Given the description of an element on the screen output the (x, y) to click on. 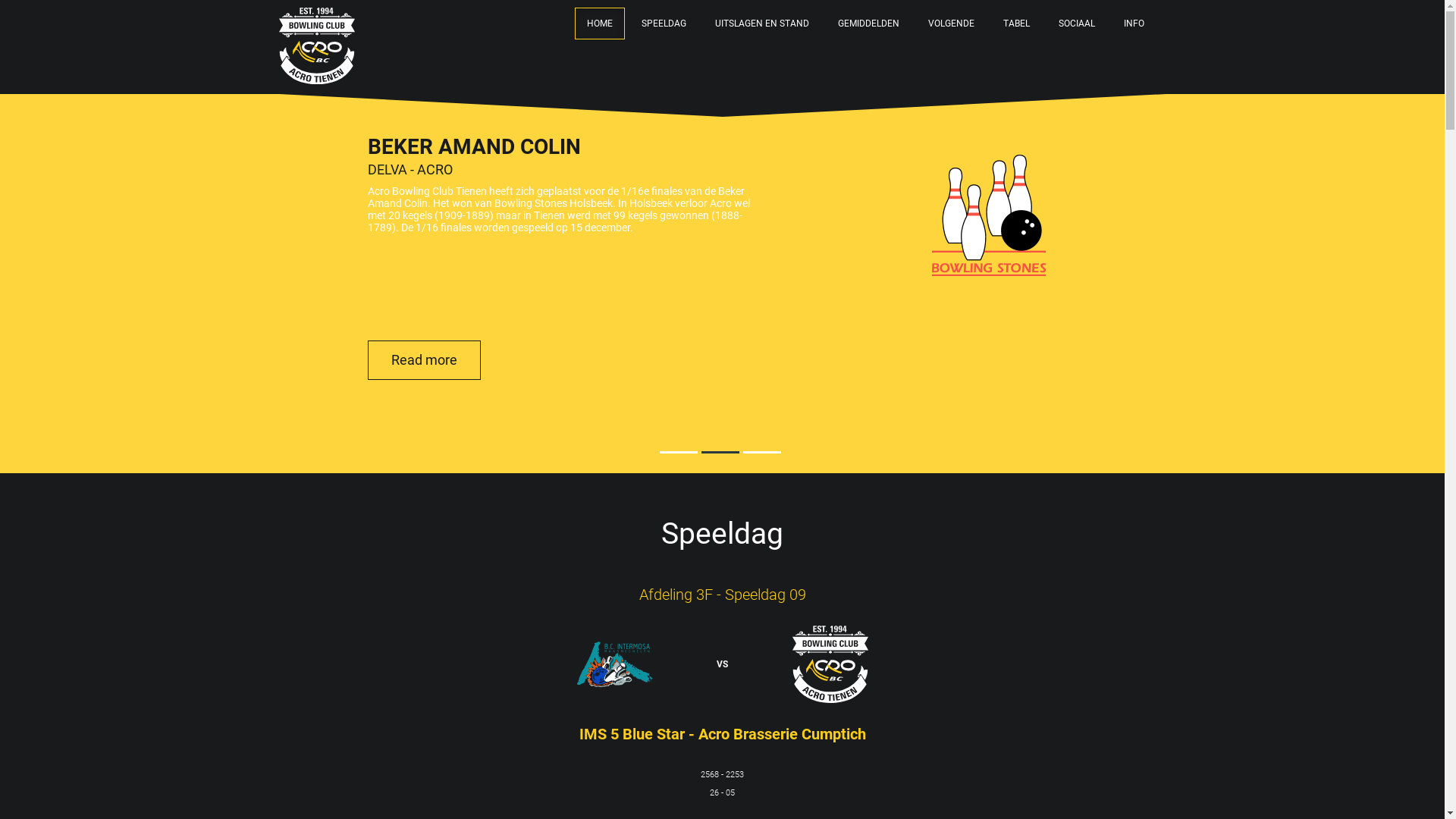
HOME Element type: text (599, 23)
SPEELDAG Element type: text (663, 23)
Read more Element type: text (423, 359)
UITSLAGEN EN STAND Element type: text (761, 23)
INFO Element type: text (1133, 23)
GEMIDDELDEN Element type: text (867, 23)
TABEL Element type: text (1015, 23)
VOLGENDE Element type: text (951, 23)
SOCIAAL Element type: text (1076, 23)
